Given the description of an element on the screen output the (x, y) to click on. 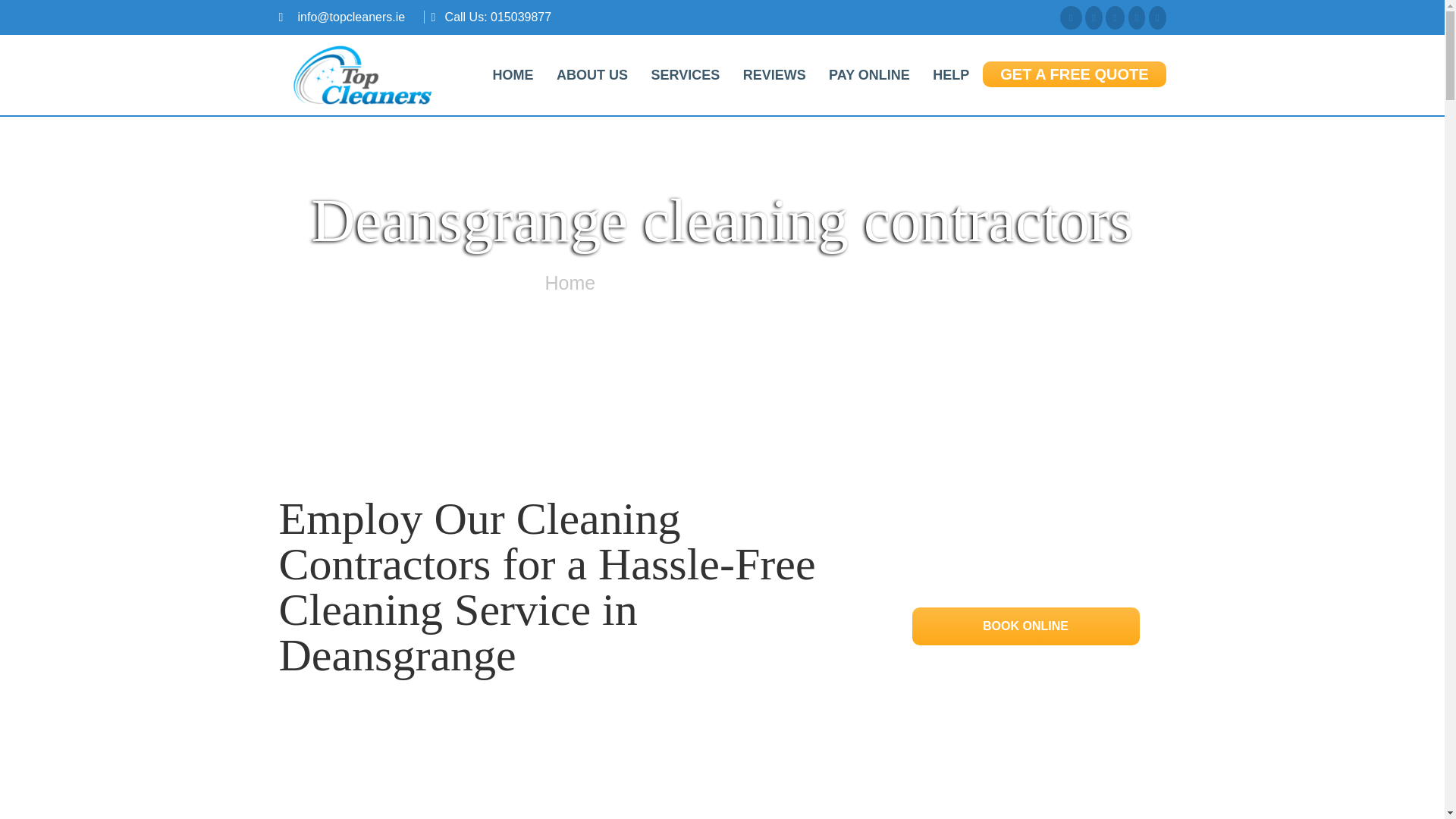
PAY ONLINE (869, 74)
HOME (513, 74)
BOOK ONLINE (1025, 625)
Home (569, 282)
ABOUT US (592, 74)
SERVICES (684, 74)
Call Us: 015039877 (498, 16)
HELP (950, 74)
BOOK ONLINE (1024, 626)
REVIEWS (774, 74)
